Given the description of an element on the screen output the (x, y) to click on. 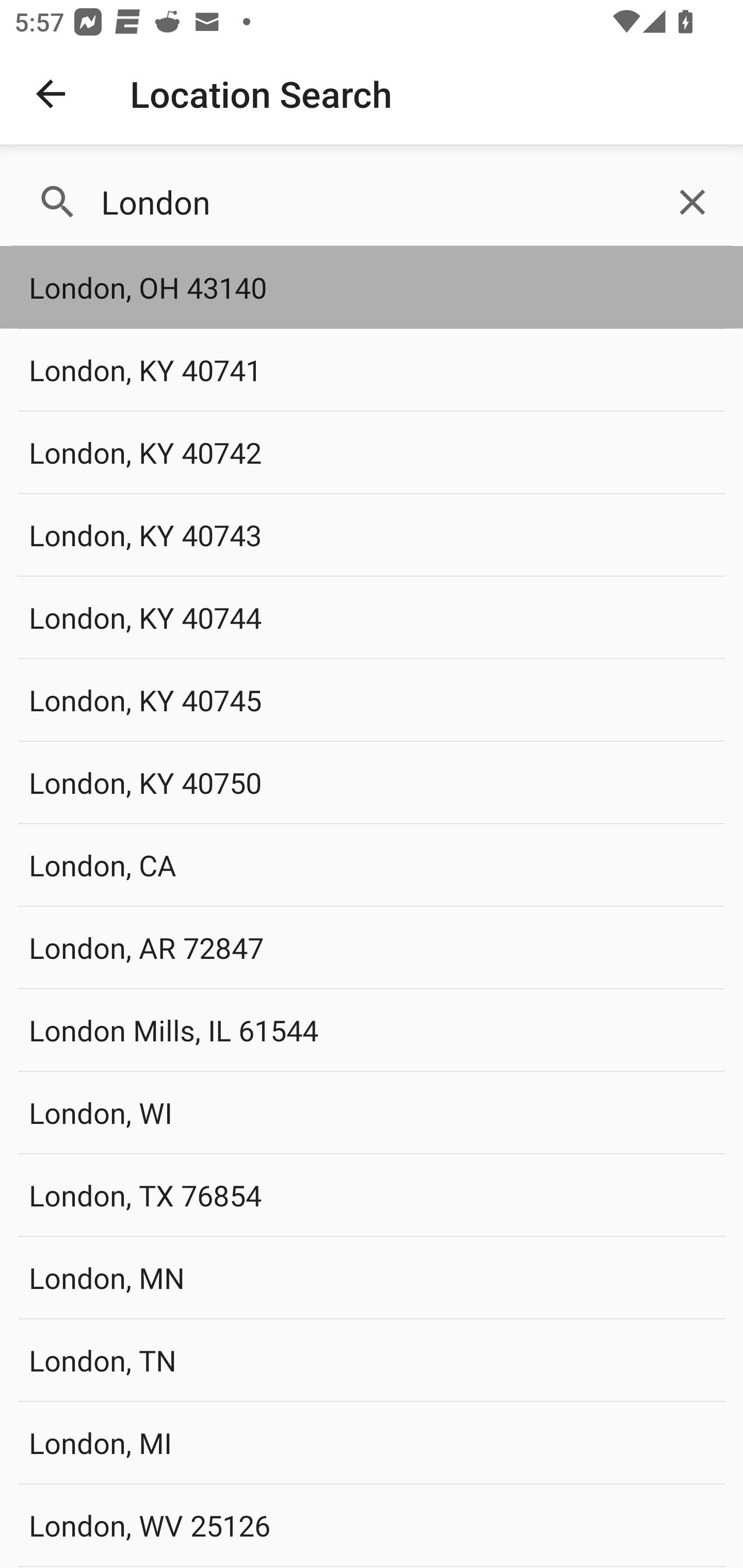
Navigate up (50, 93)
Clear query (692, 202)
London (371, 202)
London, OH 43140 (371, 287)
London, KY 40741 (371, 369)
London, KY 40742 (371, 451)
London, KY 40743 (371, 534)
London, KY 40744 (371, 616)
London, KY 40745 (371, 699)
London, KY 40750 (371, 782)
London, CA (371, 864)
London, AR 72847 (371, 947)
London Mills, IL 61544 (371, 1029)
London, WI (371, 1112)
London, TX 76854 (371, 1194)
London, MN (371, 1276)
London, TN (371, 1359)
London, MI (371, 1442)
London, WV 25126 (371, 1524)
